Given the description of an element on the screen output the (x, y) to click on. 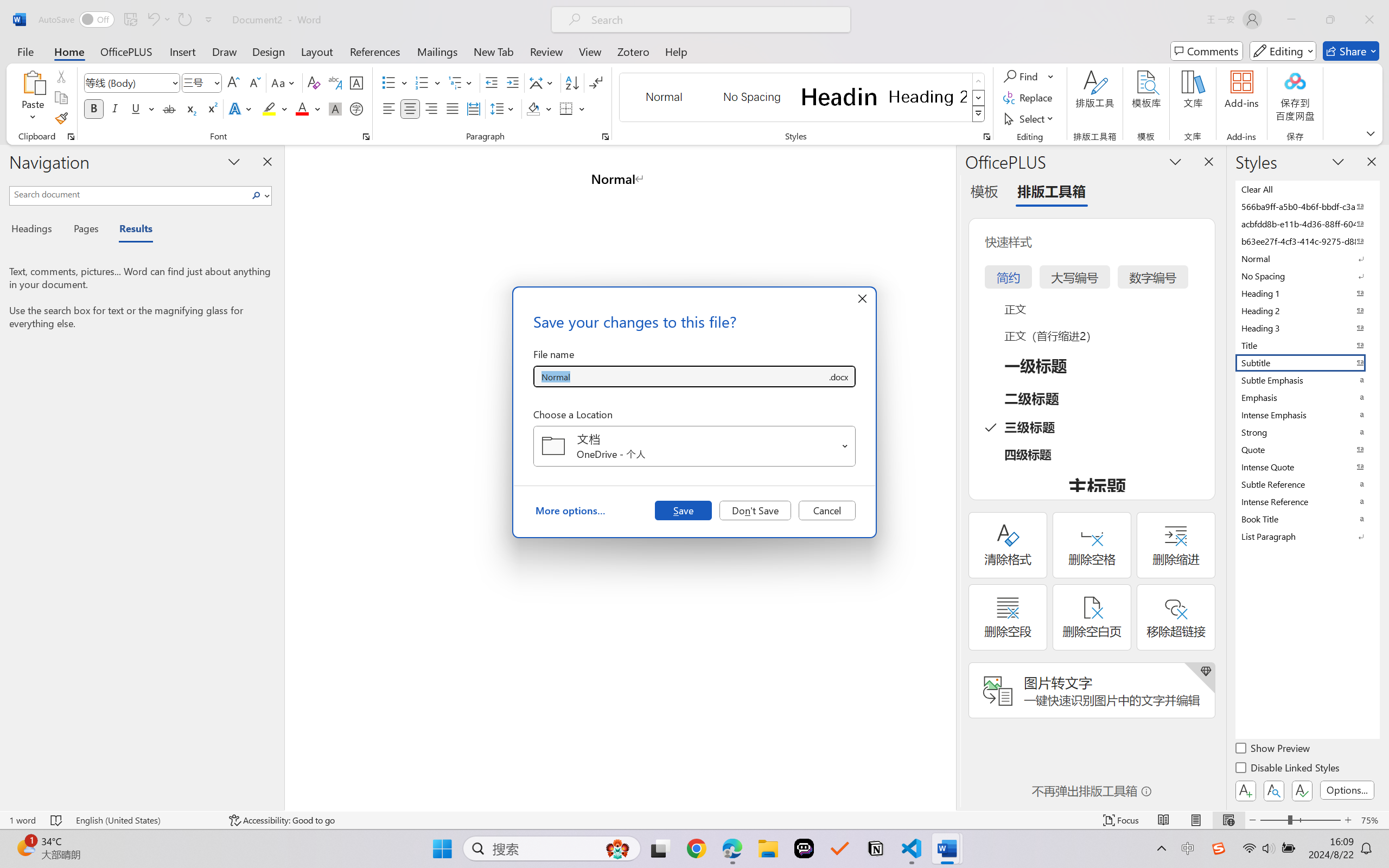
View (589, 51)
Borders (571, 108)
Layout (316, 51)
Asian Layout (542, 82)
Styles... (986, 136)
File name (680, 376)
Ribbon Display Options (1370, 132)
Results (130, 229)
Book Title (1306, 518)
